Given the description of an element on the screen output the (x, y) to click on. 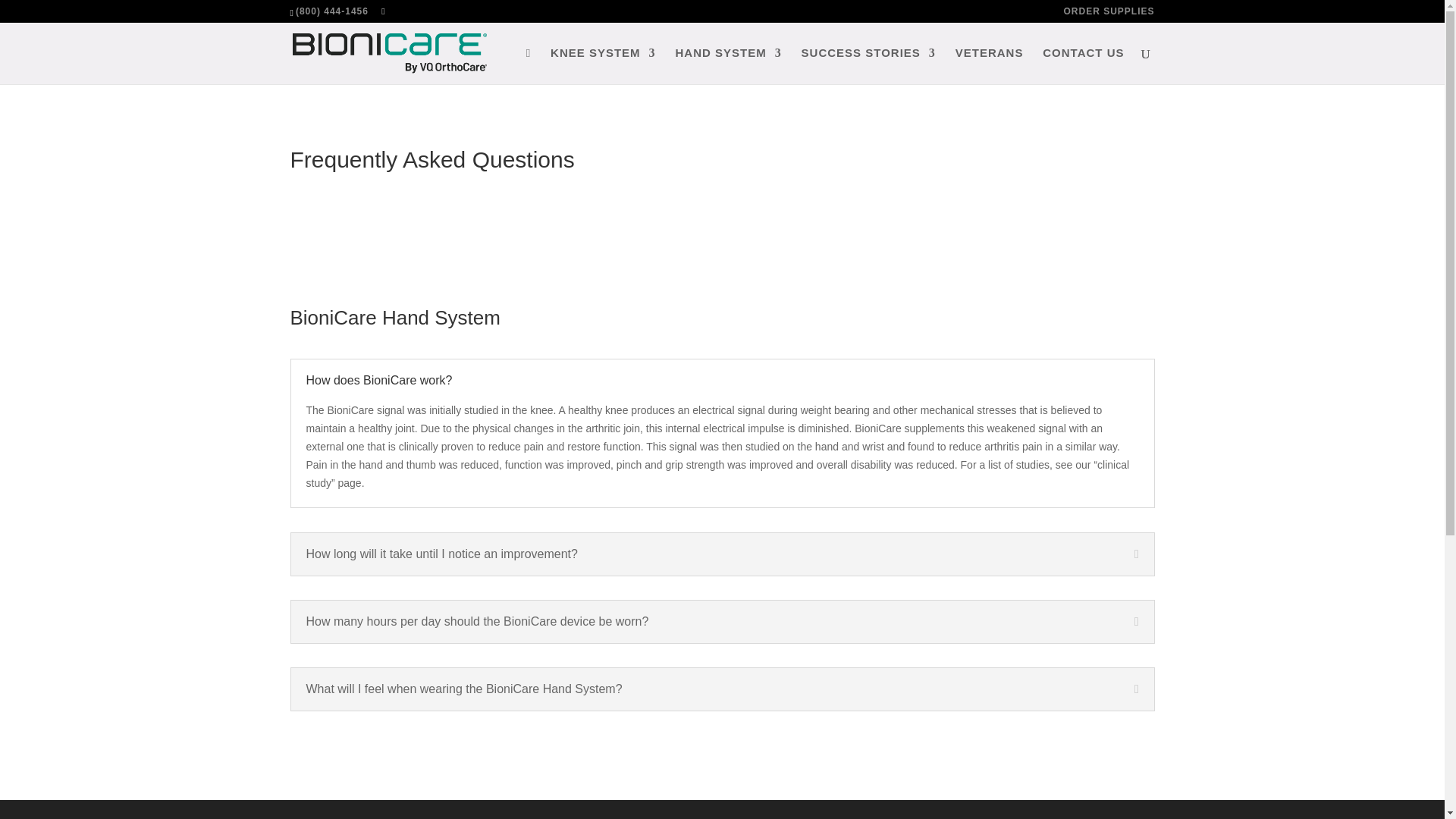
ORDER SUPPLIES (1108, 14)
VETERANS (989, 65)
HAND SYSTEM (727, 65)
SUCCESS STORIES (869, 65)
CONTACT US (1083, 65)
KNEE SYSTEM (603, 65)
